Given the description of an element on the screen output the (x, y) to click on. 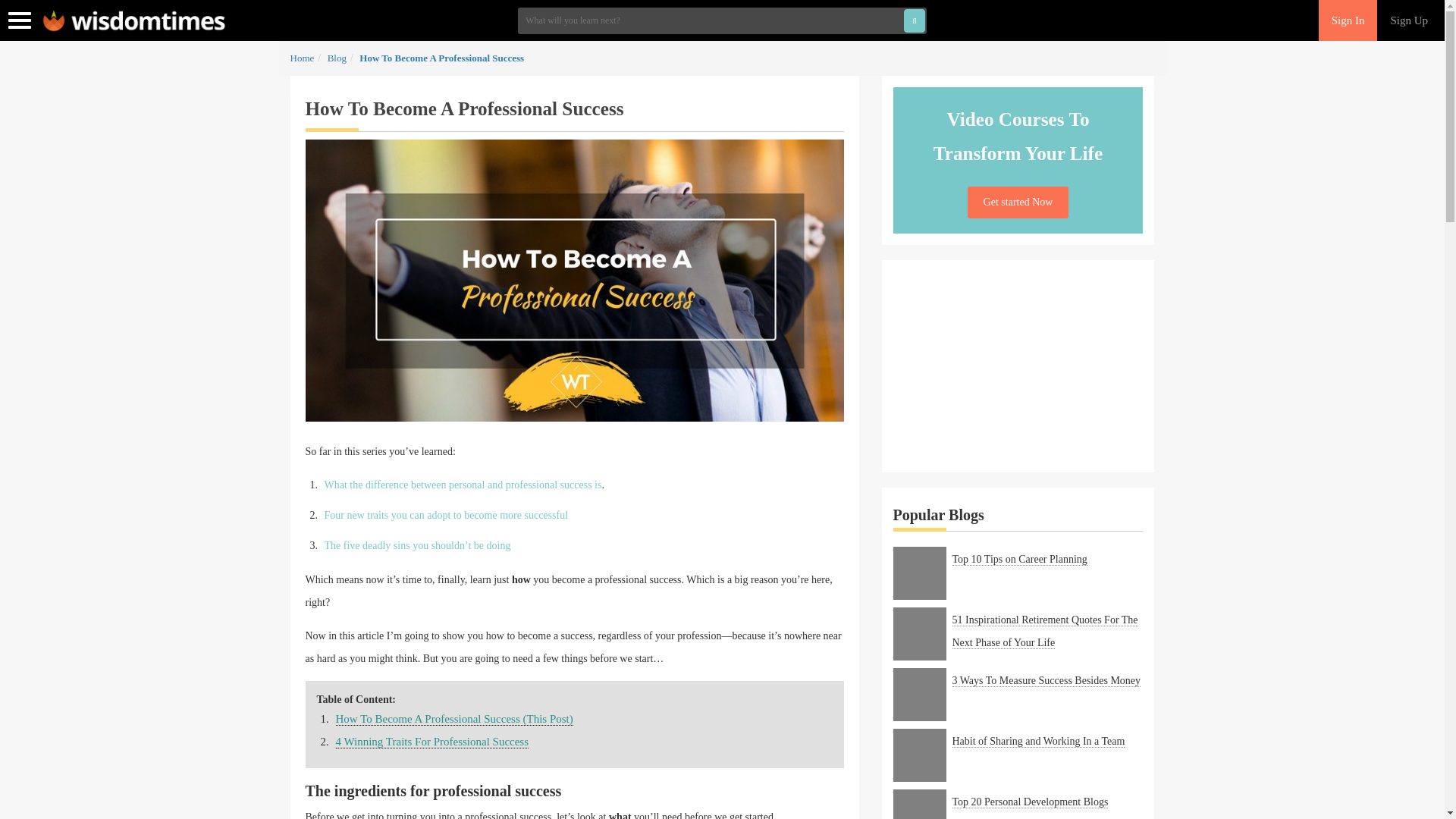
Sign Up (1409, 20)
Top 10 Tips on Career Planning (1019, 559)
3 Ways To Measure Success Besides Money (1046, 680)
Home (301, 57)
Advertisement (1017, 366)
How To Become A Professional Success (441, 57)
Get started Now (1018, 202)
Blog (336, 57)
